Given the description of an element on the screen output the (x, y) to click on. 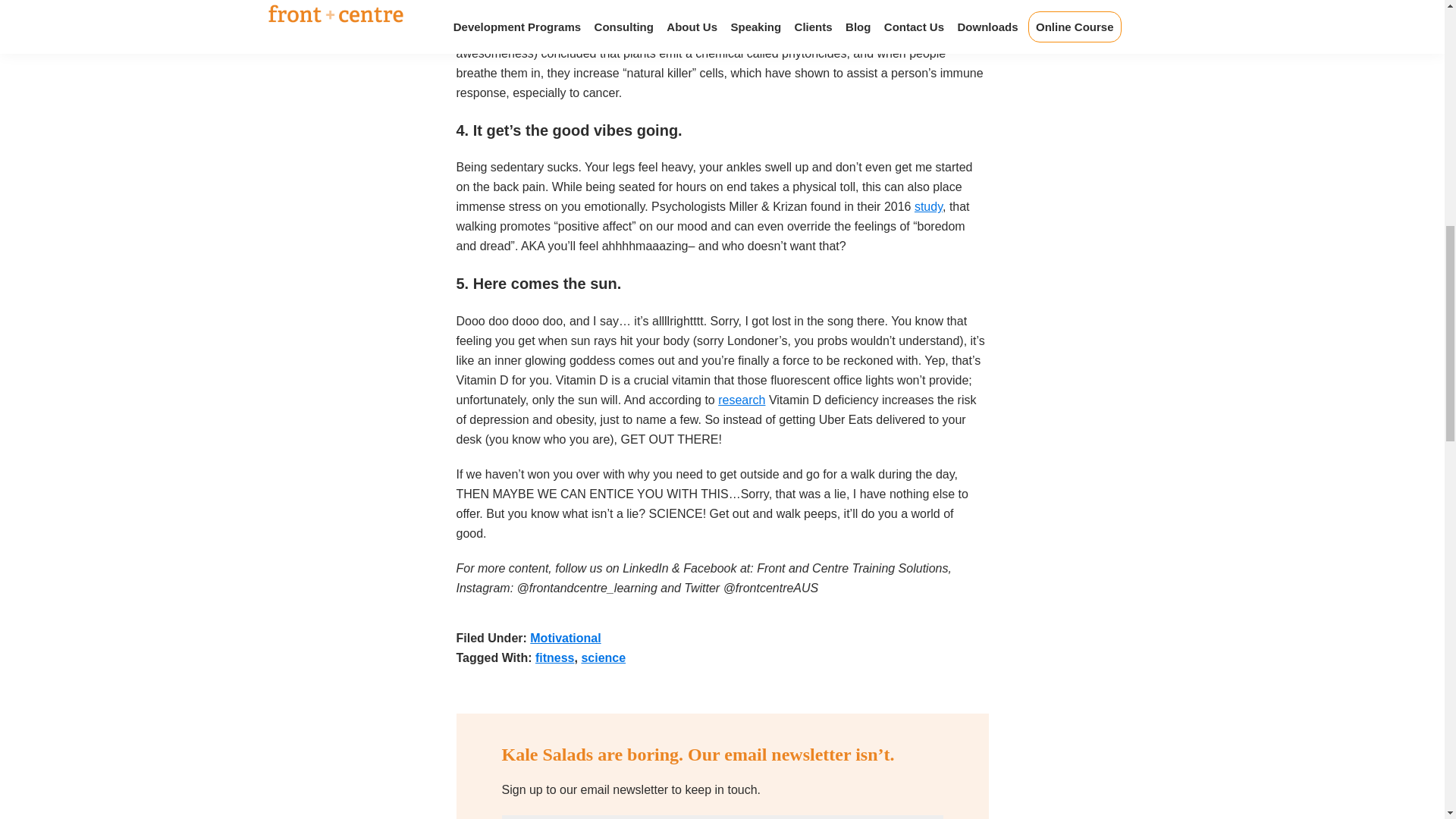
research (741, 399)
Motivational (564, 637)
study (928, 205)
fitness (555, 657)
Research (482, 33)
science (603, 657)
